Given the description of an element on the screen output the (x, y) to click on. 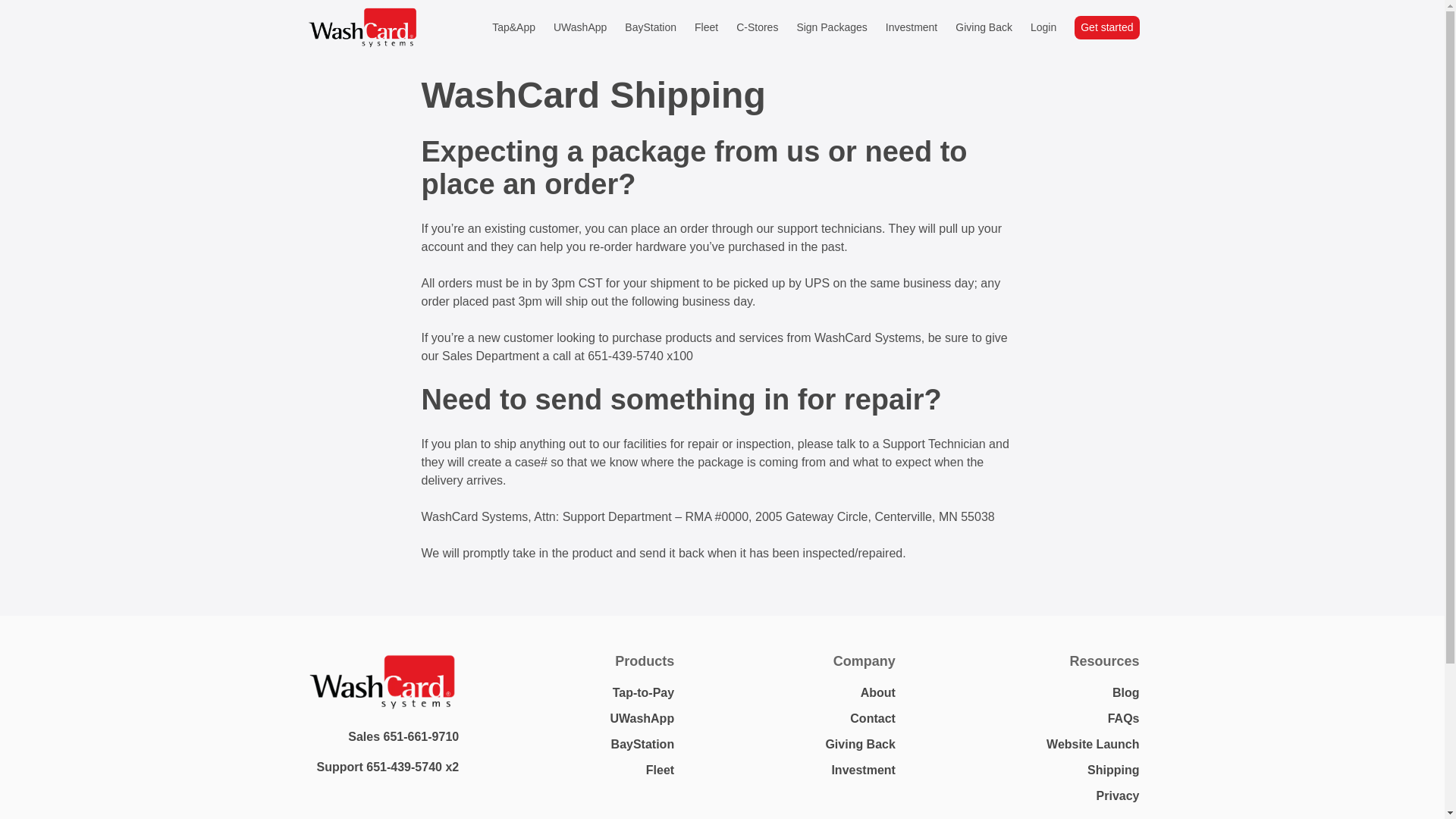
C-Stores (756, 28)
Website Launch (1092, 744)
Investment (911, 28)
Investment (863, 769)
Sales 651-661-9710 (402, 736)
Sign Packages (831, 28)
Fleet (660, 769)
About (877, 692)
Blog (1126, 692)
Tap-to-Pay (643, 692)
